Given the description of an element on the screen output the (x, y) to click on. 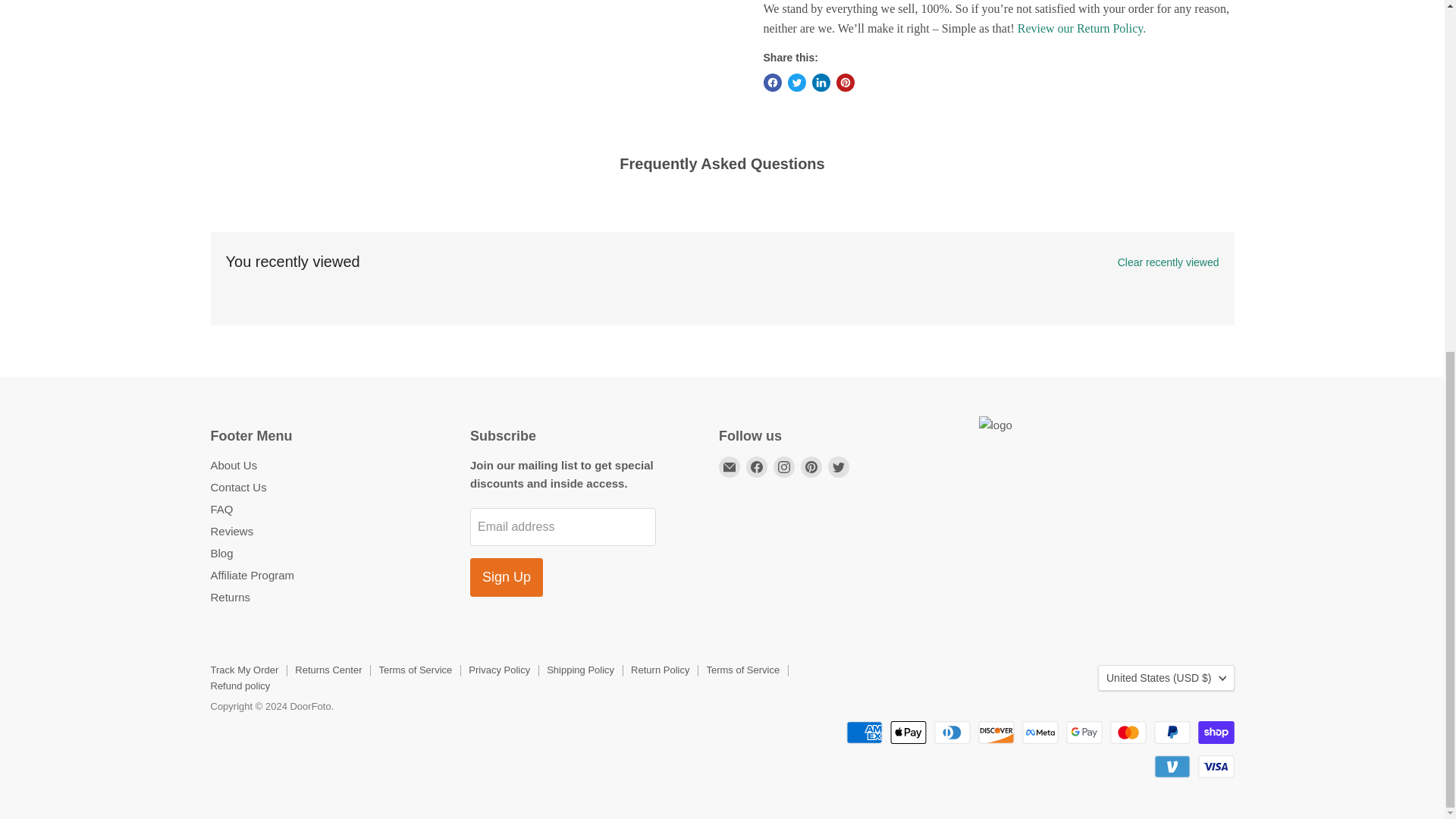
Pinterest (811, 466)
Twitter (838, 466)
E-mail (729, 466)
Facebook (756, 466)
Instagram (783, 466)
